Given the description of an element on the screen output the (x, y) to click on. 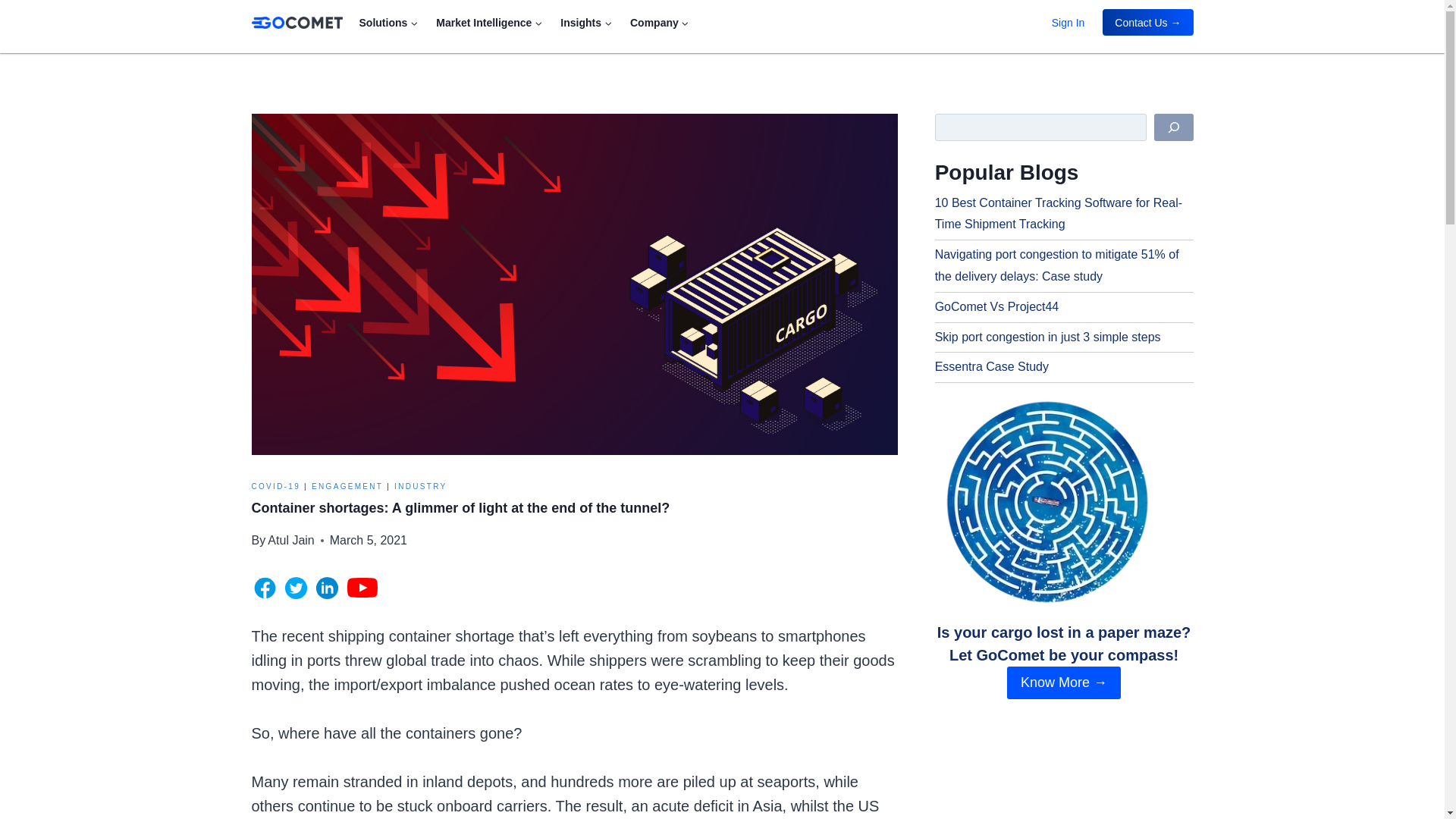
Insights (586, 21)
Market Intelligence (488, 21)
Solutions (389, 21)
